Given the description of an element on the screen output the (x, y) to click on. 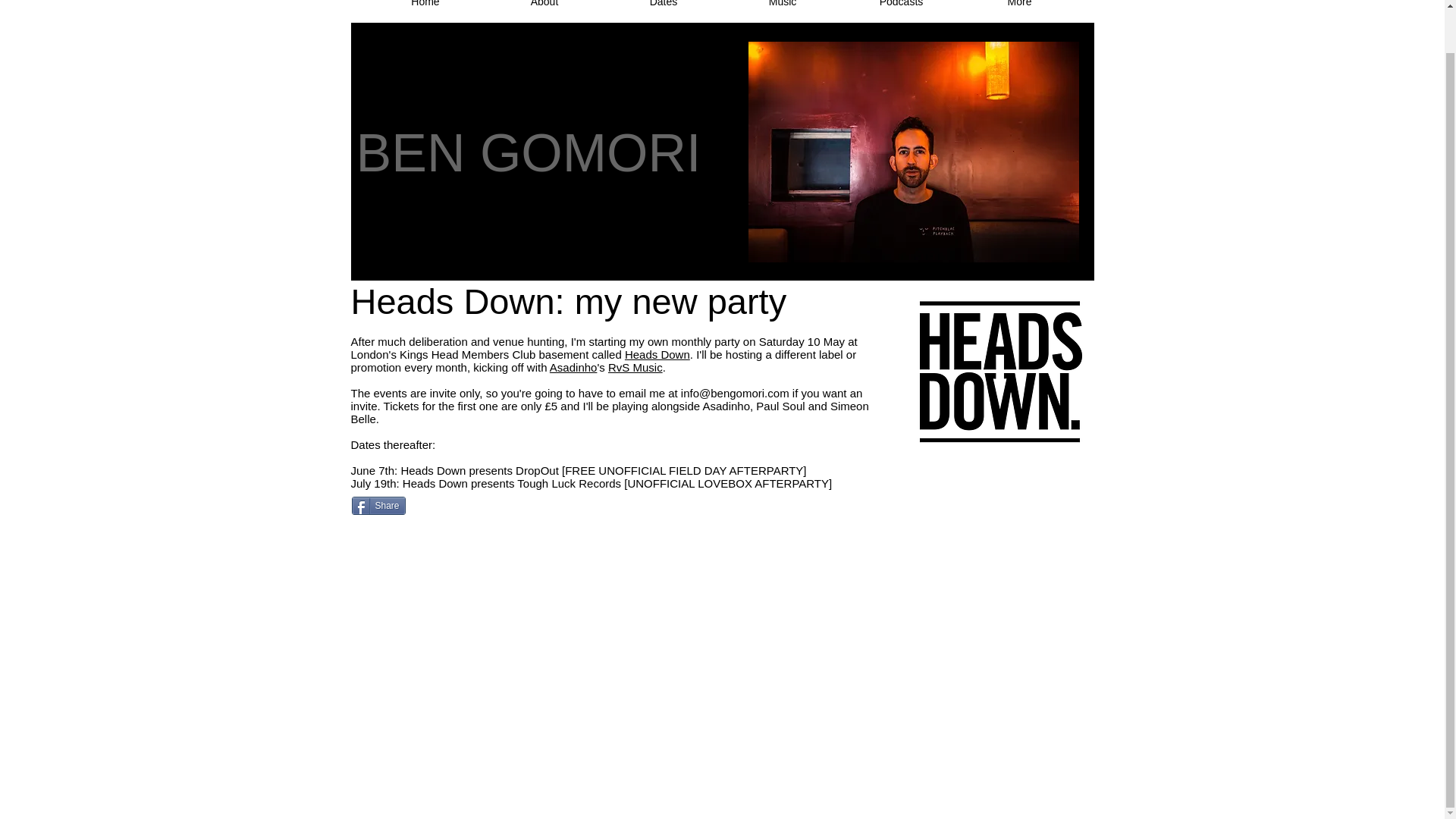
Home (424, 9)
Twitter Tweet (457, 507)
Share (379, 505)
About (544, 9)
Share (379, 505)
Embedded Content (813, 6)
Music (783, 9)
Asadinho (573, 367)
Heads Down (657, 354)
RvS Music (635, 367)
